Given the description of an element on the screen output the (x, y) to click on. 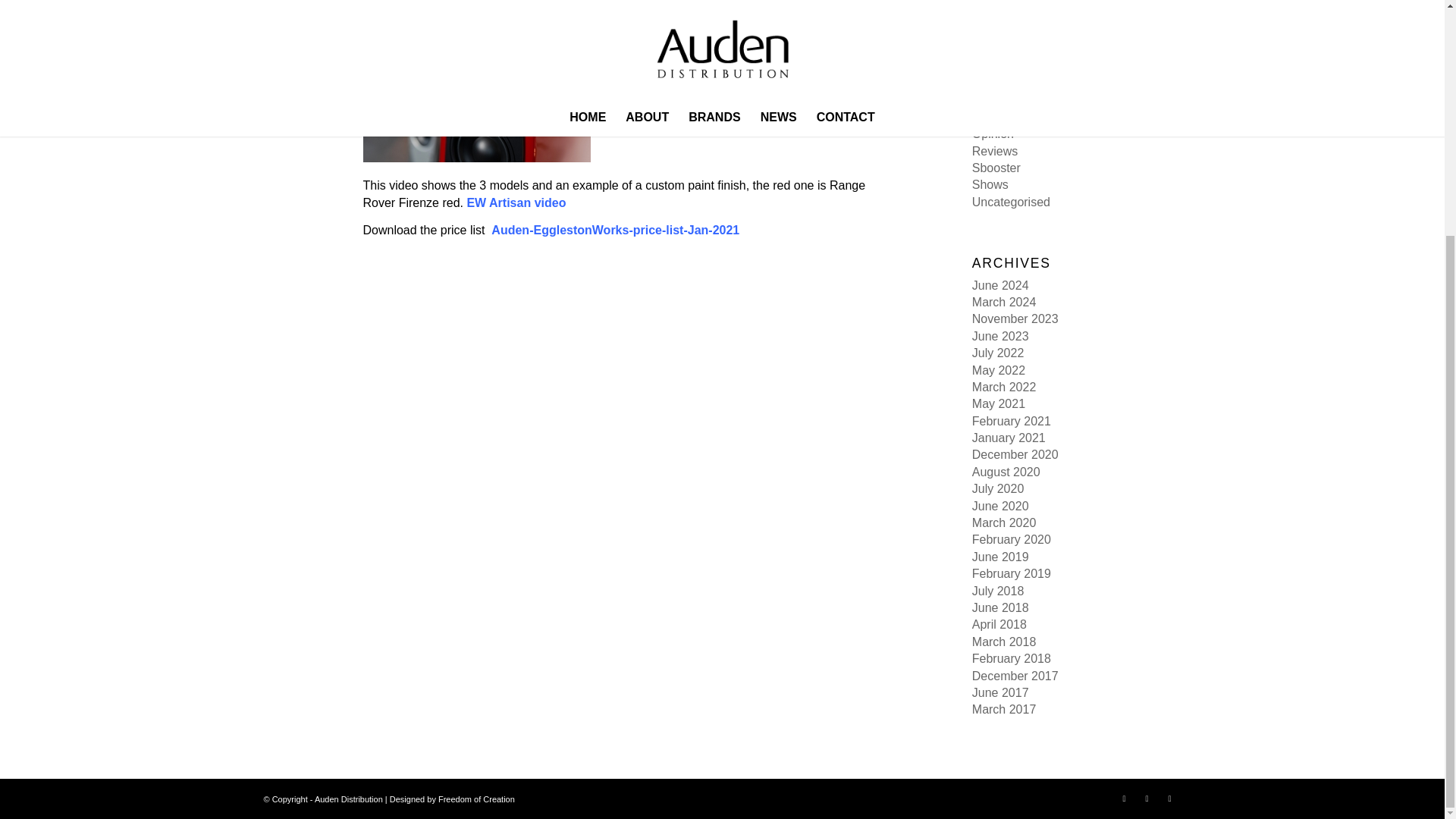
Hegel (988, 65)
Twitter (1146, 798)
AudioMica Labs (1015, 2)
Sbooster (996, 167)
November 2023 (1015, 318)
M2Tech (993, 99)
June 2024 (1000, 285)
Events (990, 48)
Instagram (1169, 798)
Reviews (994, 151)
Opinion (992, 133)
Auden-EgglestonWorks-price-list-Jan-2021 (615, 229)
Uncategorised (1010, 201)
Shows (990, 184)
Music Works (1006, 116)
